Given the description of an element on the screen output the (x, y) to click on. 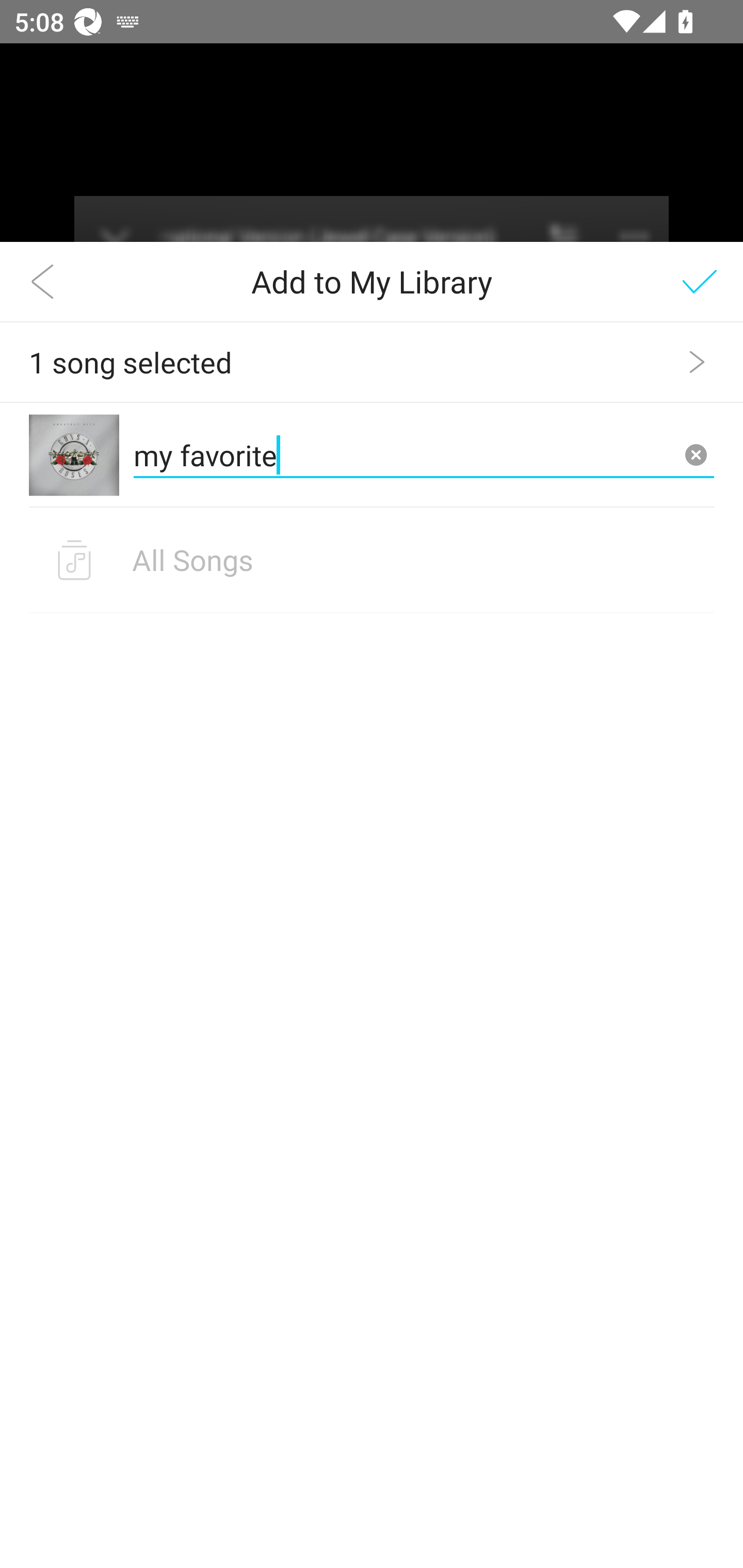
1 song selected label_track_count (371, 362)
my favorite (423, 454)
All Songs (371, 560)
